Given the description of an element on the screen output the (x, y) to click on. 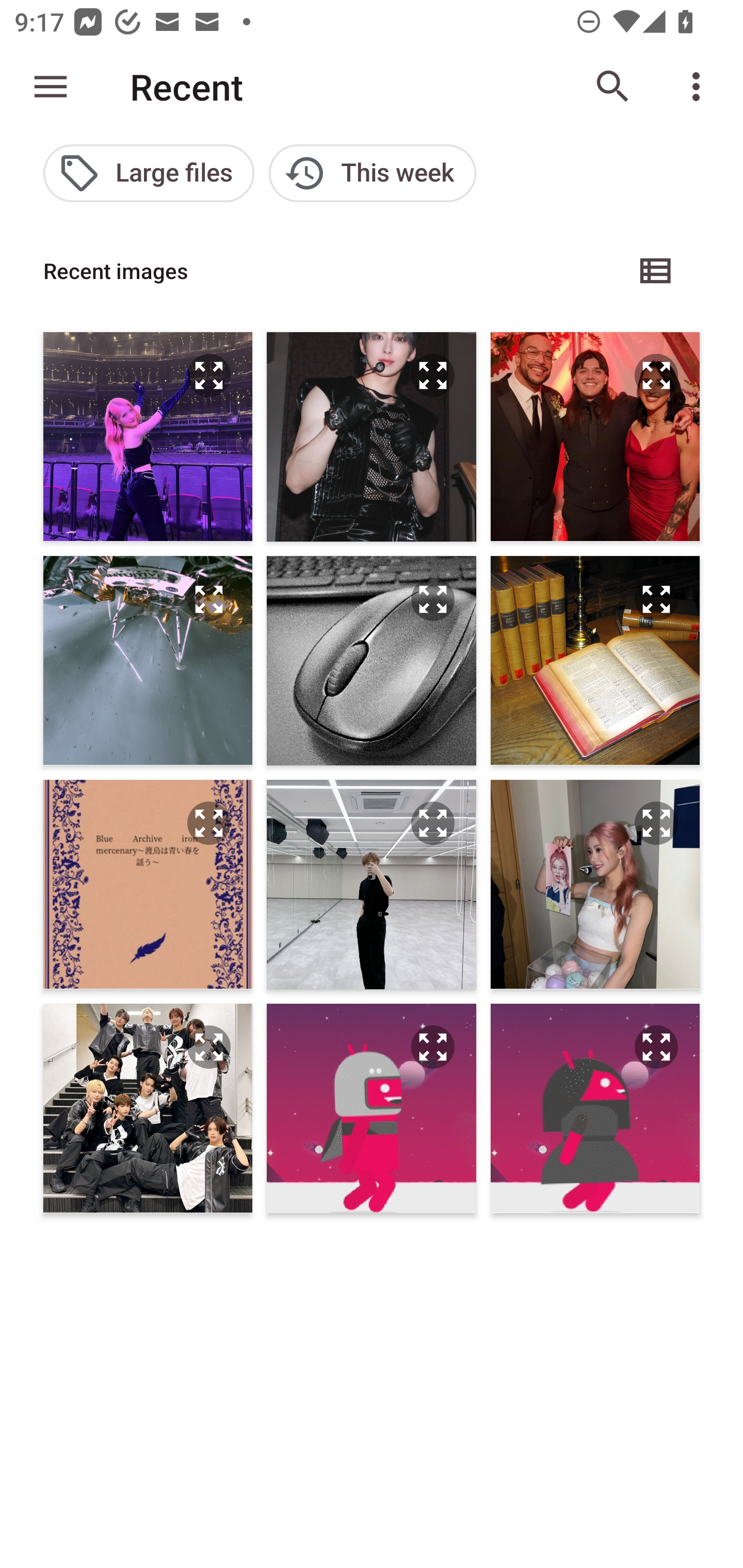
Show roots (50, 86)
Search (612, 86)
More options (699, 86)
Large files (148, 173)
This week (372, 173)
List view (655, 270)
Preview the file done.jpg (208, 599)
Preview the file Latin dictionary.jpg (655, 599)
Preview the file IMG_20240205_090359.jpg (432, 1046)
Preview the file IMG_20240205_085101.jpg (655, 1046)
